Given the description of an element on the screen output the (x, y) to click on. 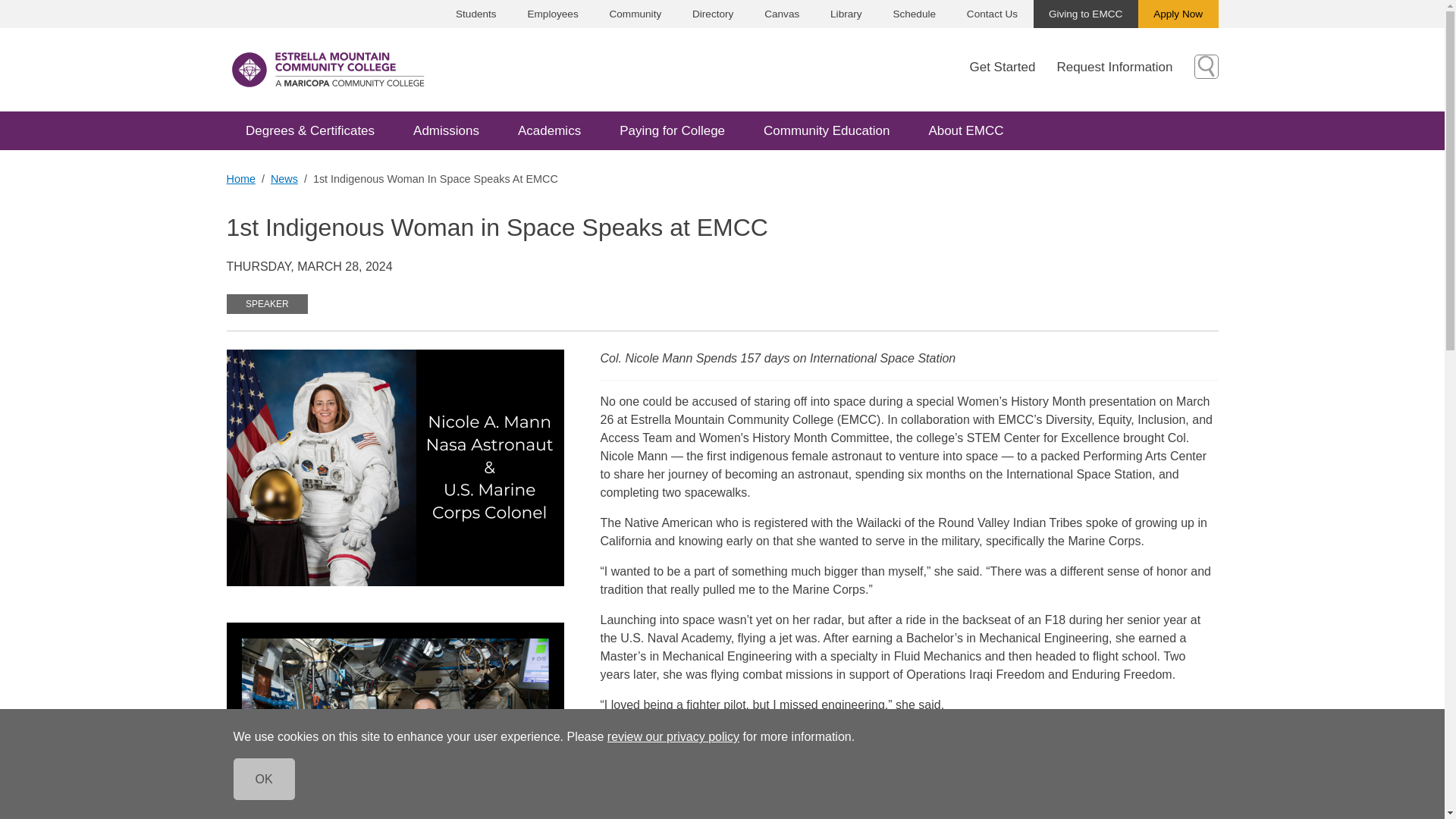
Library (846, 13)
OK (263, 779)
Giving to EMCC (1084, 13)
review our privacy policy (673, 736)
EMCC Class Schedule (913, 13)
EMCC Directory (713, 13)
News (284, 178)
Get Started (1013, 66)
Home (239, 178)
Students (476, 13)
Community Education (826, 130)
Admissions (446, 130)
Apply Now (1178, 13)
Employees (553, 13)
Paying for College (671, 130)
